Given the description of an element on the screen output the (x, y) to click on. 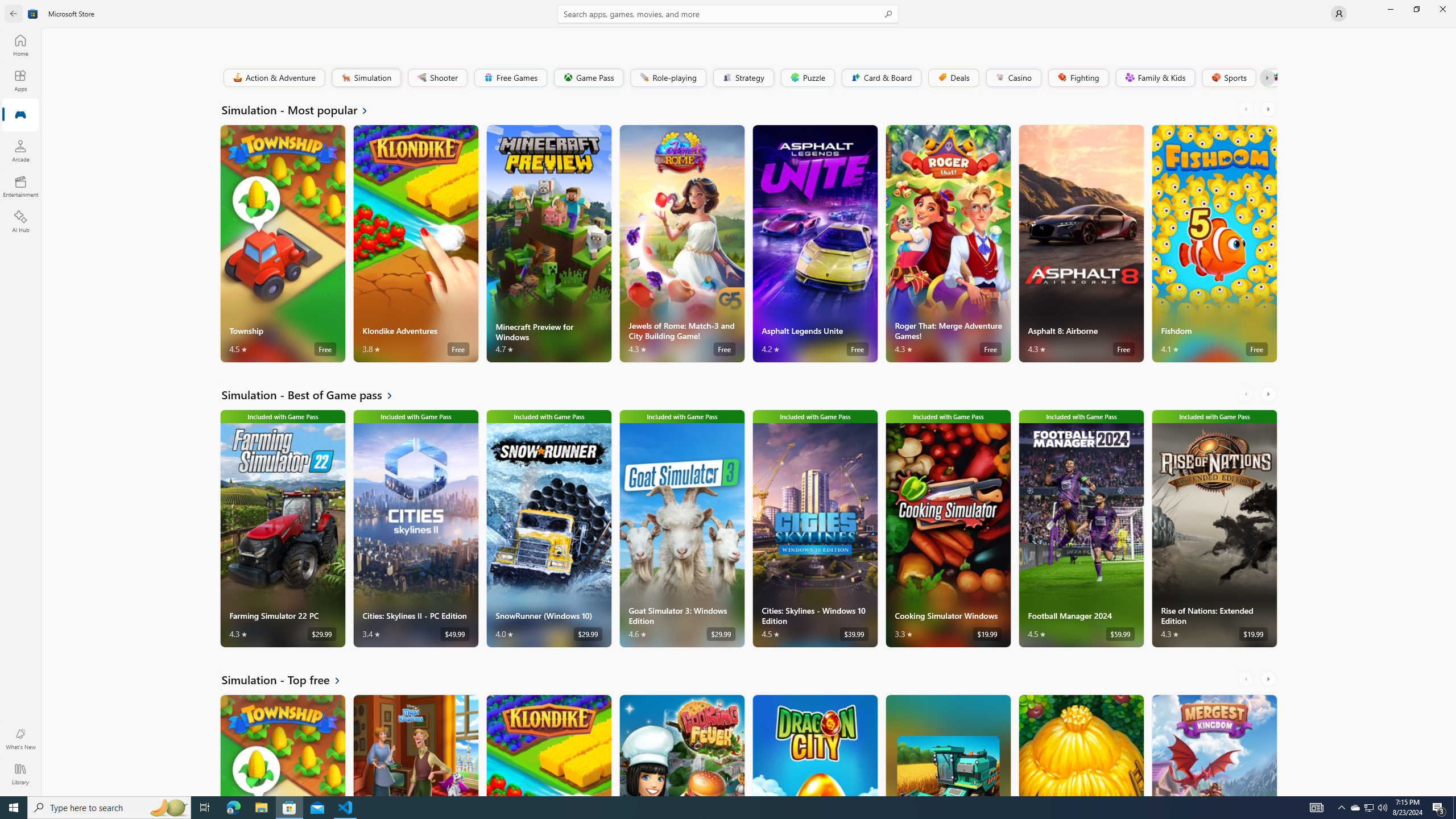
Class: Button (1266, 77)
Free Games (509, 77)
Simulation (365, 77)
Sports (1228, 77)
Casino (1013, 77)
Game Pass (588, 77)
AutomationID: LeftScrollButton (1246, 678)
See all  Simulation - Top free (287, 679)
Gaming (20, 115)
Role-playing (668, 77)
